Given the description of an element on the screen output the (x, y) to click on. 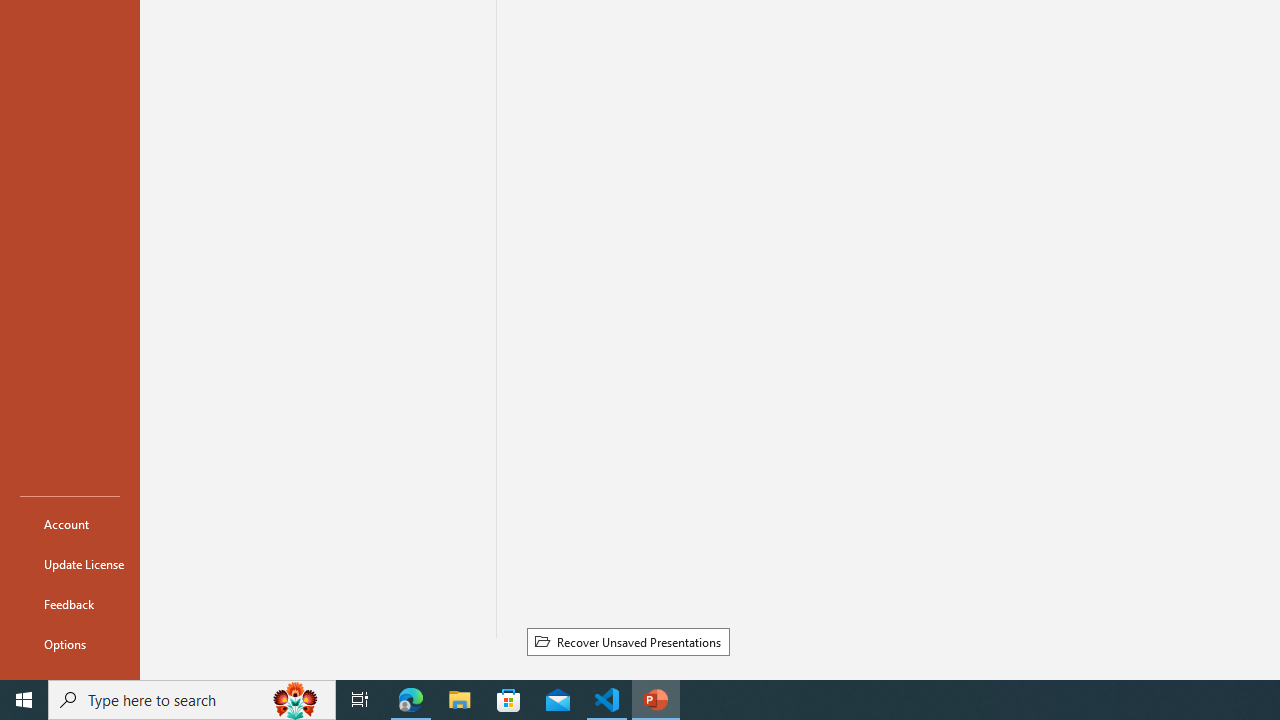
Options (69, 643)
Update License (69, 563)
Account (69, 523)
Recover Unsaved Presentations (628, 641)
Feedback (69, 603)
